Given the description of an element on the screen output the (x, y) to click on. 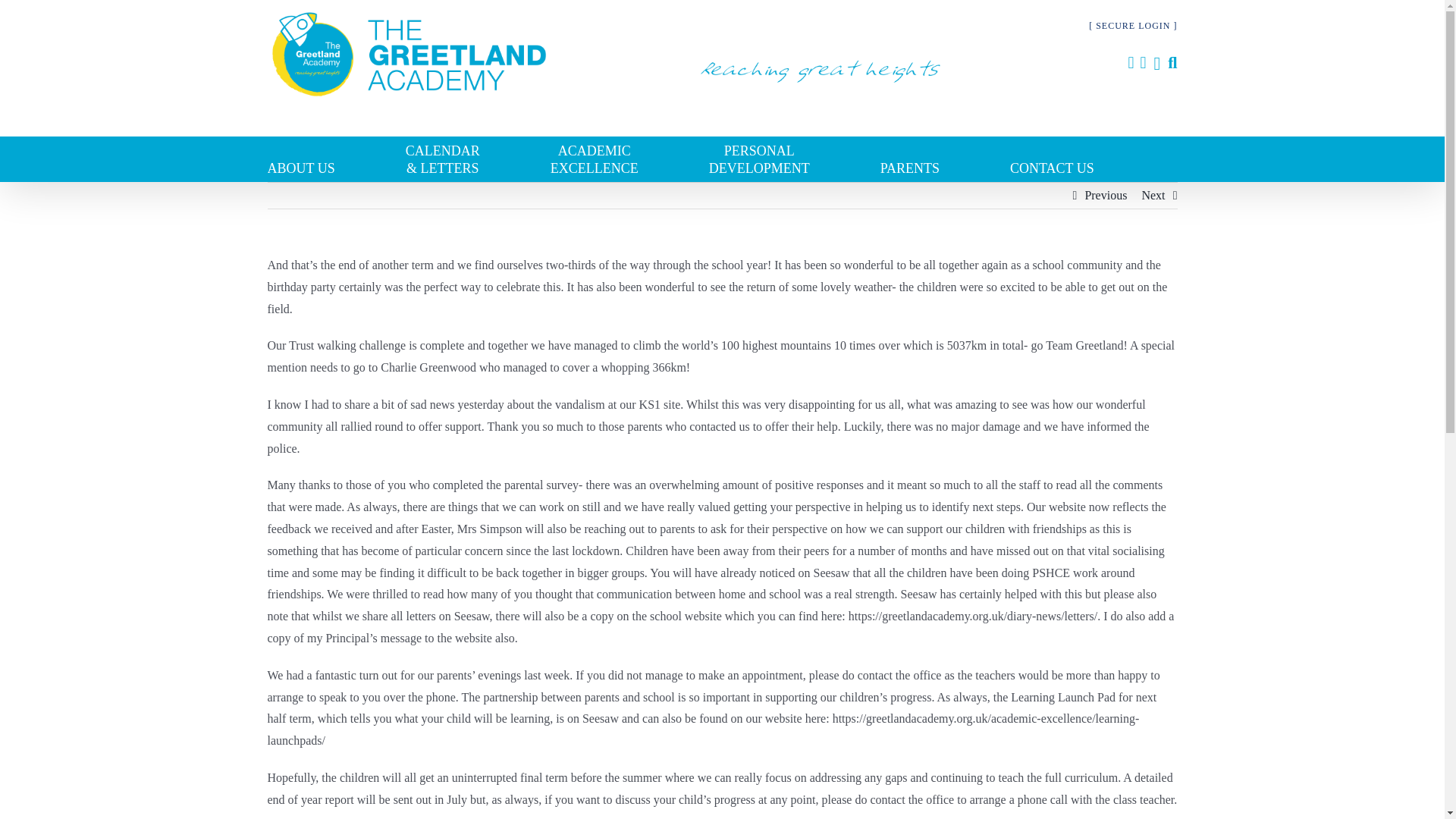
ABOUT US (335, 158)
